Given the description of an element on the screen output the (x, y) to click on. 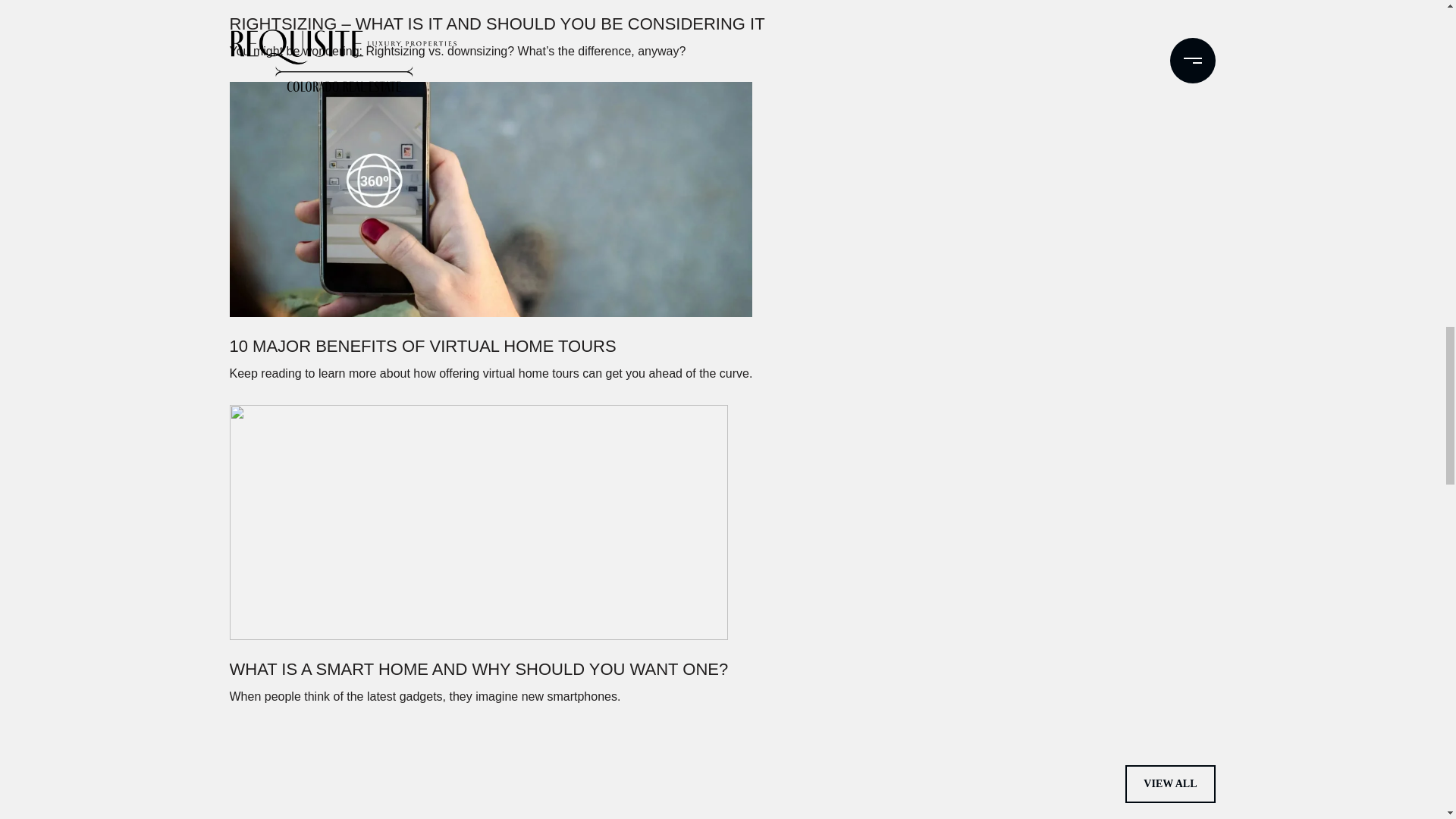
VIEW ALL (1169, 783)
